Given the description of an element on the screen output the (x, y) to click on. 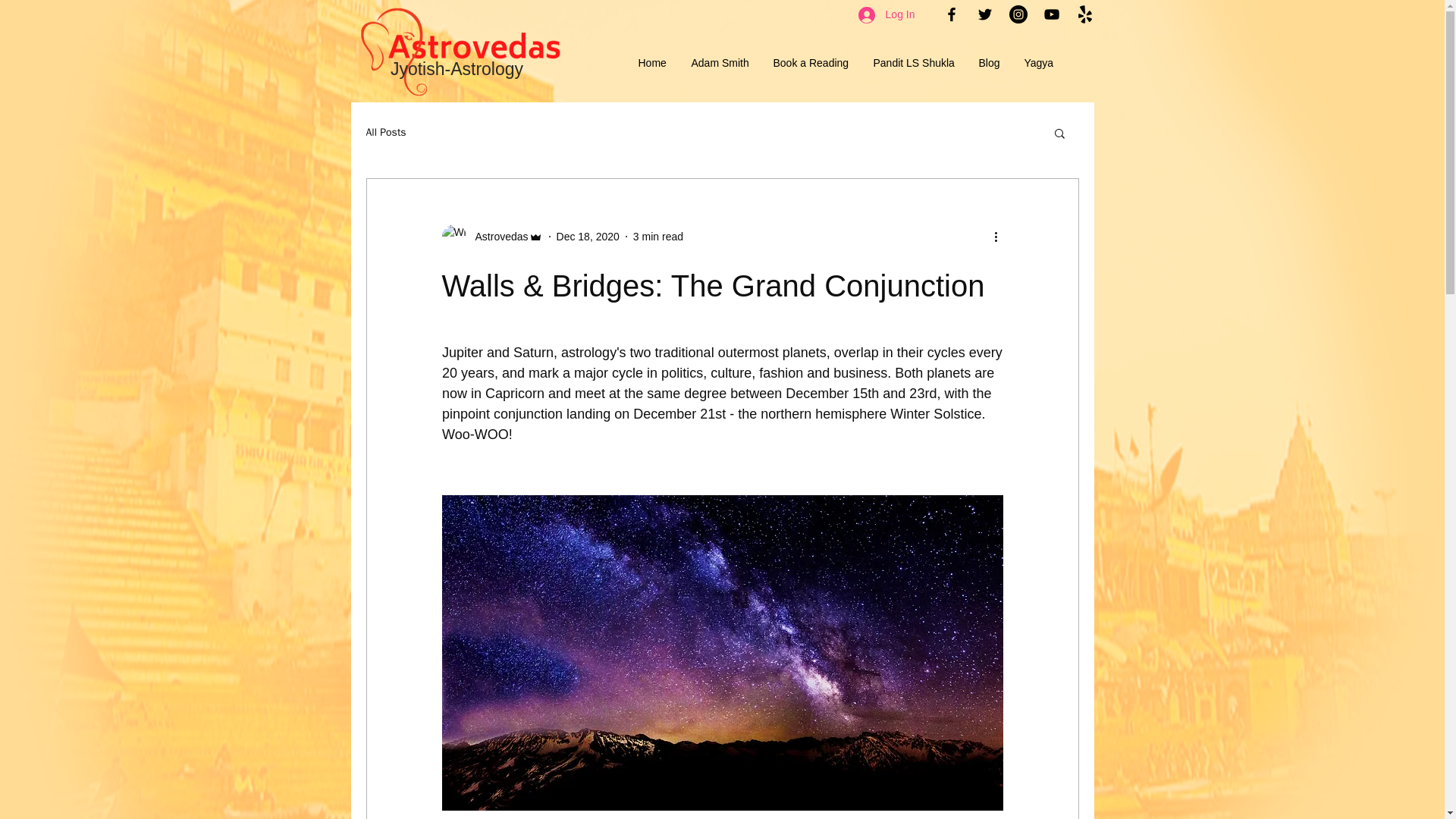
Astrovedas (496, 236)
3 min read (657, 236)
All Posts (385, 132)
Pandit LS Shukla (913, 63)
Home (652, 63)
Log In (886, 14)
Dec 18, 2020 (588, 236)
Astrovedas (491, 236)
Adam Smith (720, 63)
Blog (990, 63)
